Given the description of an element on the screen output the (x, y) to click on. 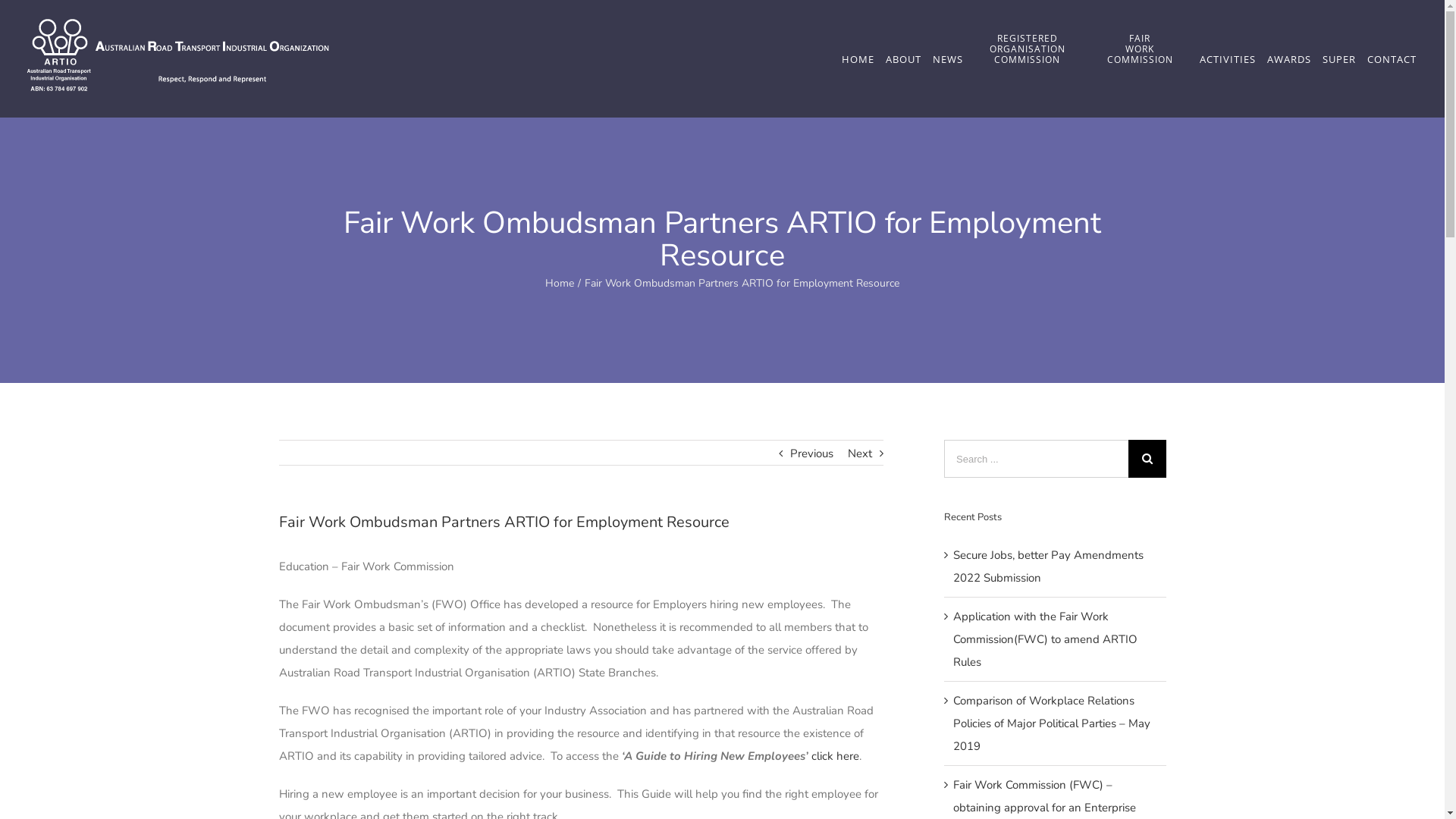
NEWS Element type: text (947, 59)
click here Element type: text (835, 755)
ABOUT Element type: text (902, 59)
AWARDS Element type: text (1288, 59)
Home Element type: text (559, 283)
Previous Element type: text (811, 453)
Secure Jobs, better Pay Amendments 2022 Submission Element type: text (1048, 566)
FAIR
WORK
COMMISSION Element type: text (1139, 59)
SUPER Element type: text (1338, 59)
CONTACT Element type: text (1391, 59)
HOME Element type: text (857, 59)
REGISTERED
ORGANISATION
COMMISSION Element type: text (1026, 59)
ACTIVITIES Element type: text (1227, 59)
Next Element type: text (859, 453)
